Given the description of an element on the screen output the (x, y) to click on. 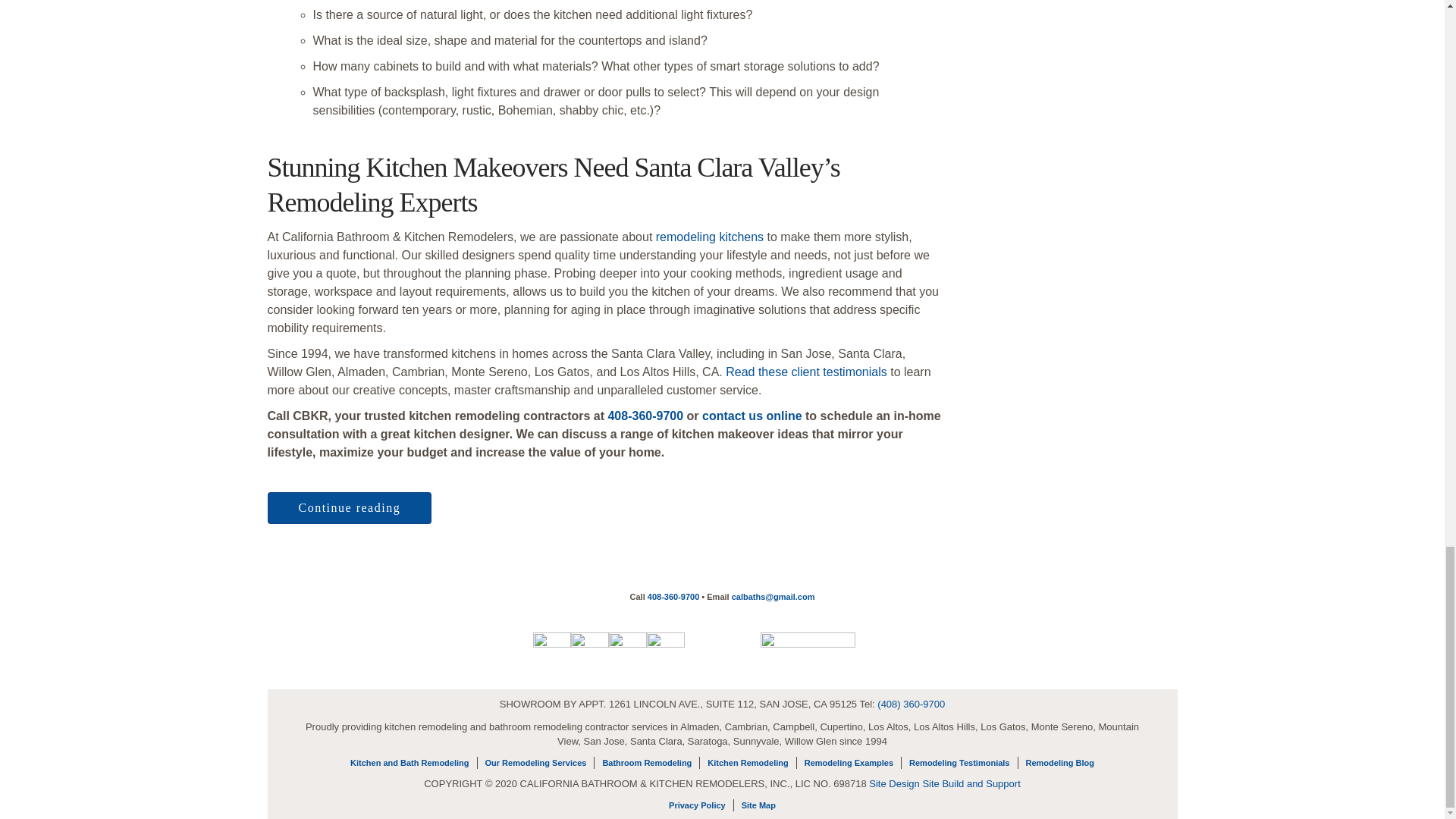
remodeling kitchens (709, 236)
contact us online (751, 415)
Read these client testimonials (805, 371)
Continue reading (348, 508)
408-360-9700 (644, 415)
